Given the description of an element on the screen output the (x, y) to click on. 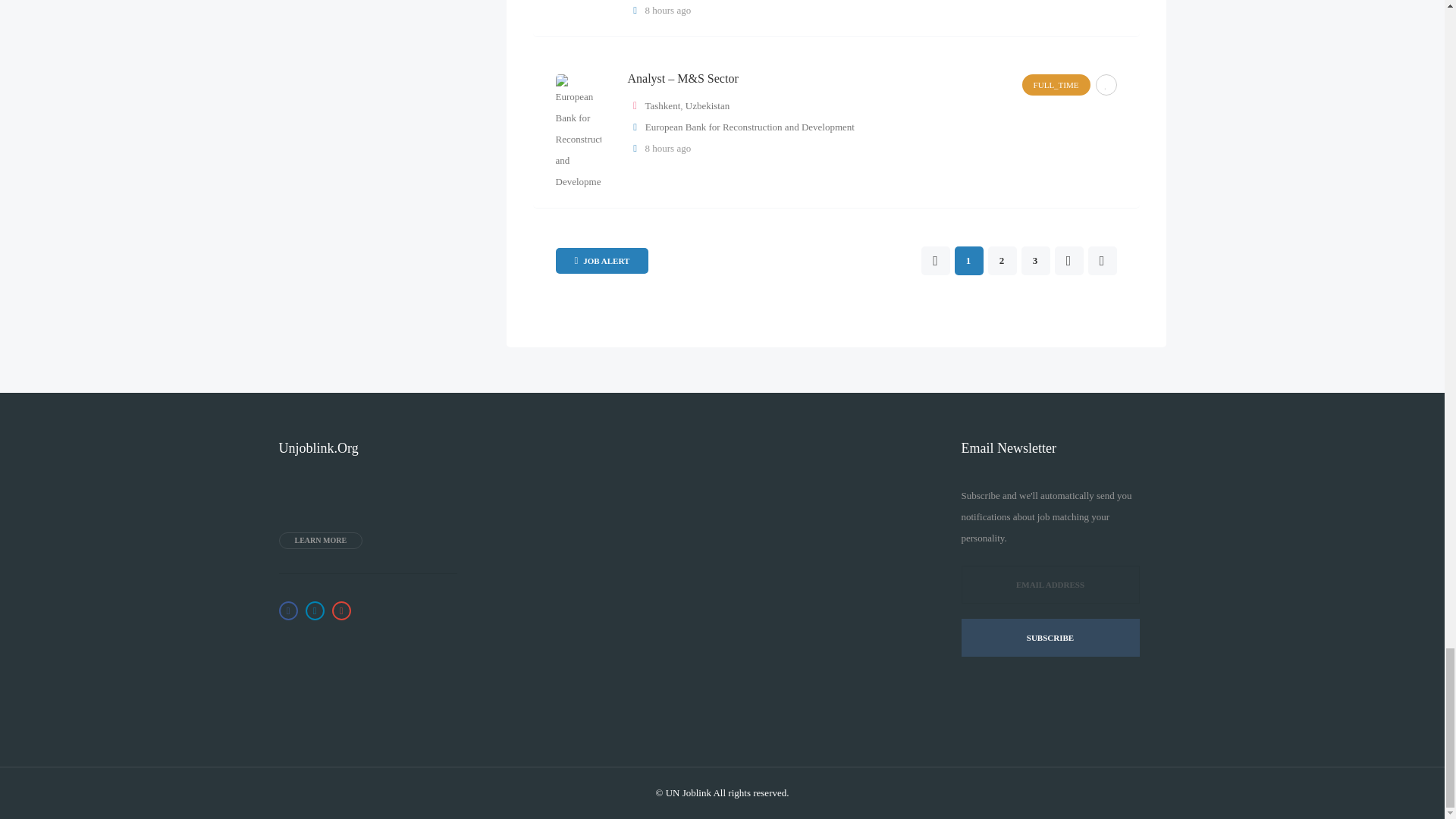
Google Plush (340, 610)
Twitter (313, 610)
Facebook (288, 610)
